Given the description of an element on the screen output the (x, y) to click on. 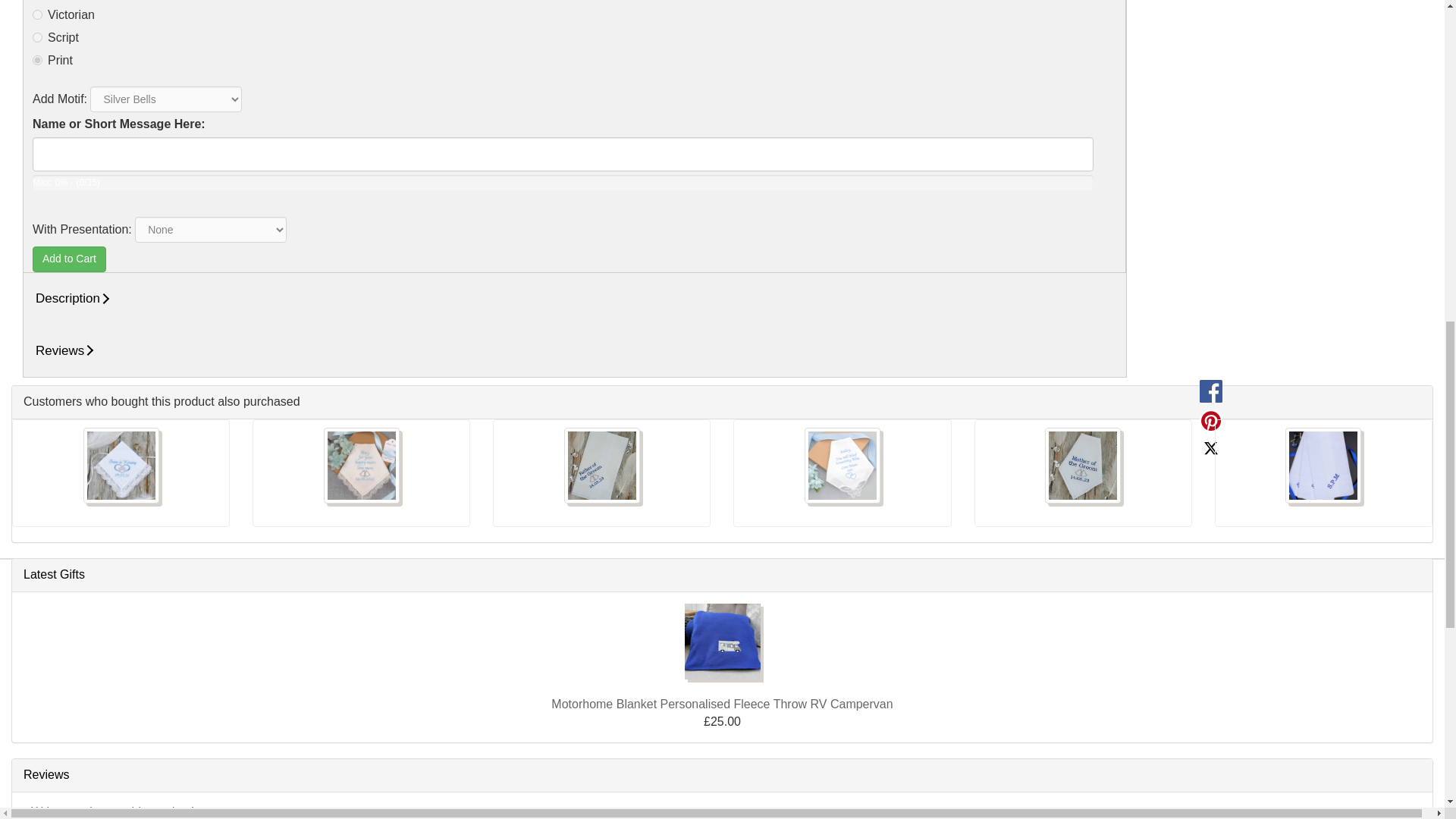
59 (37, 37)
316 (37, 14)
183 (37, 60)
